Given the description of an element on the screen output the (x, y) to click on. 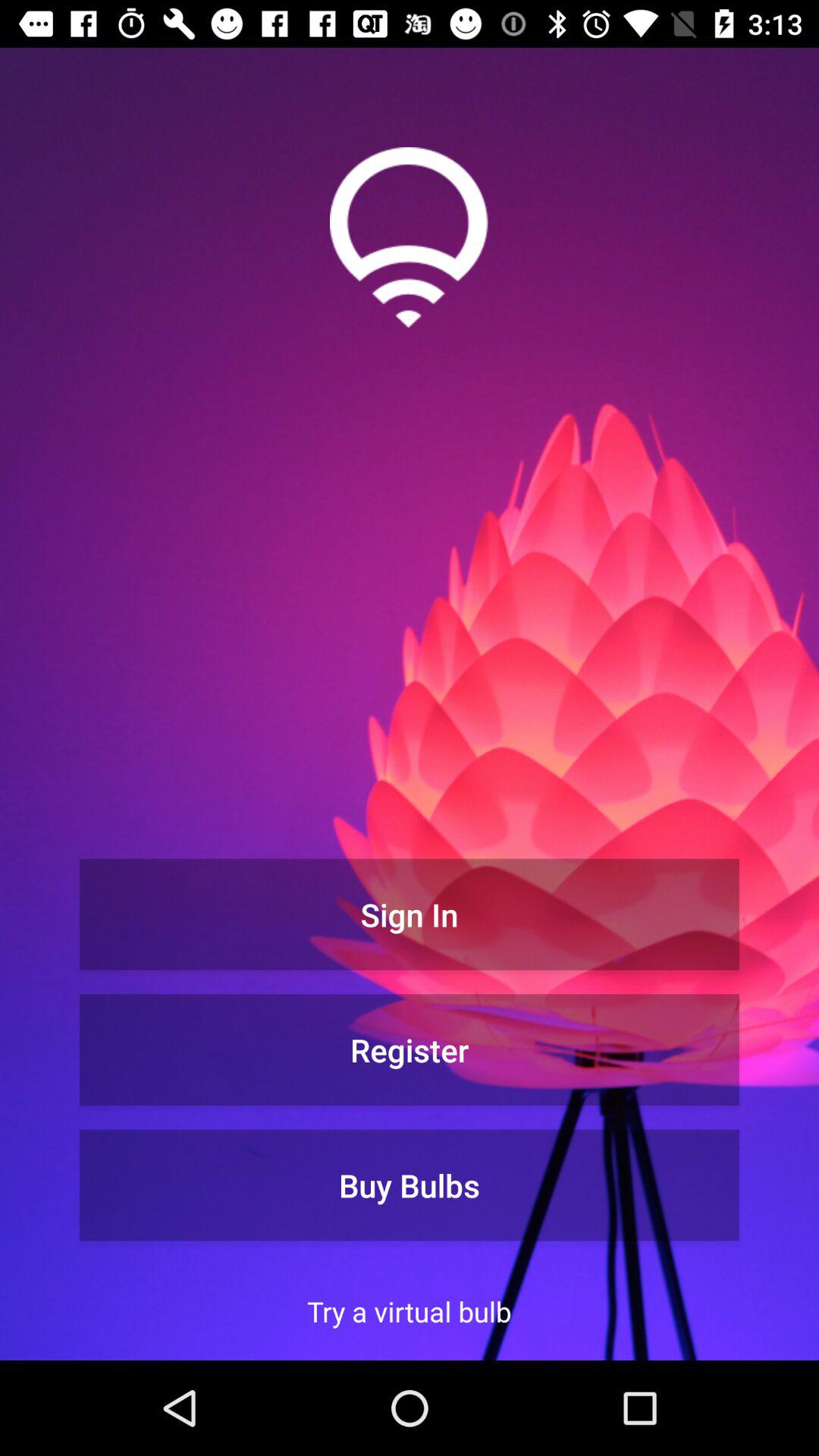
tap the sign in (409, 914)
